Given the description of an element on the screen output the (x, y) to click on. 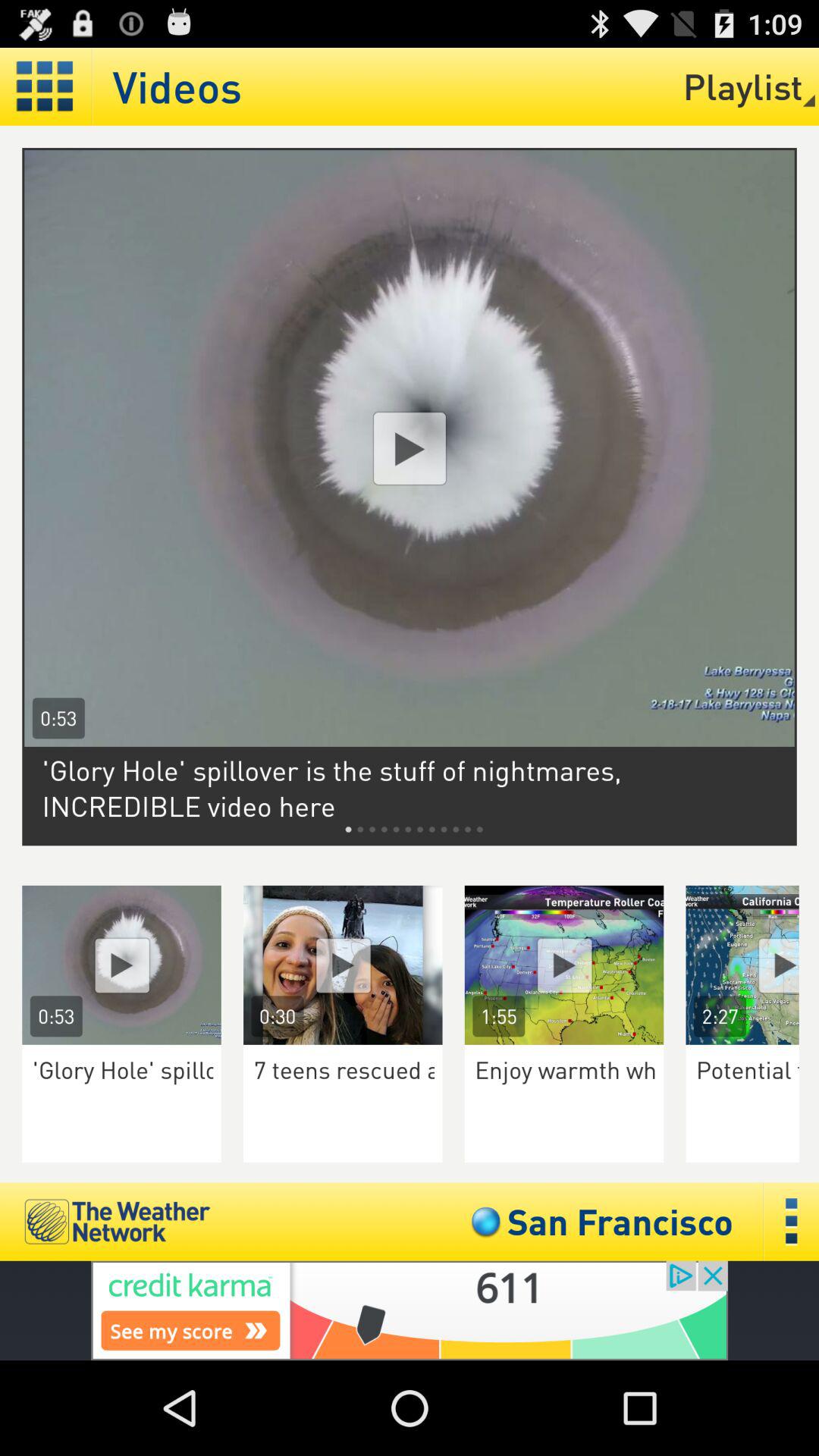
view video (121, 964)
